Given the description of an element on the screen output the (x, y) to click on. 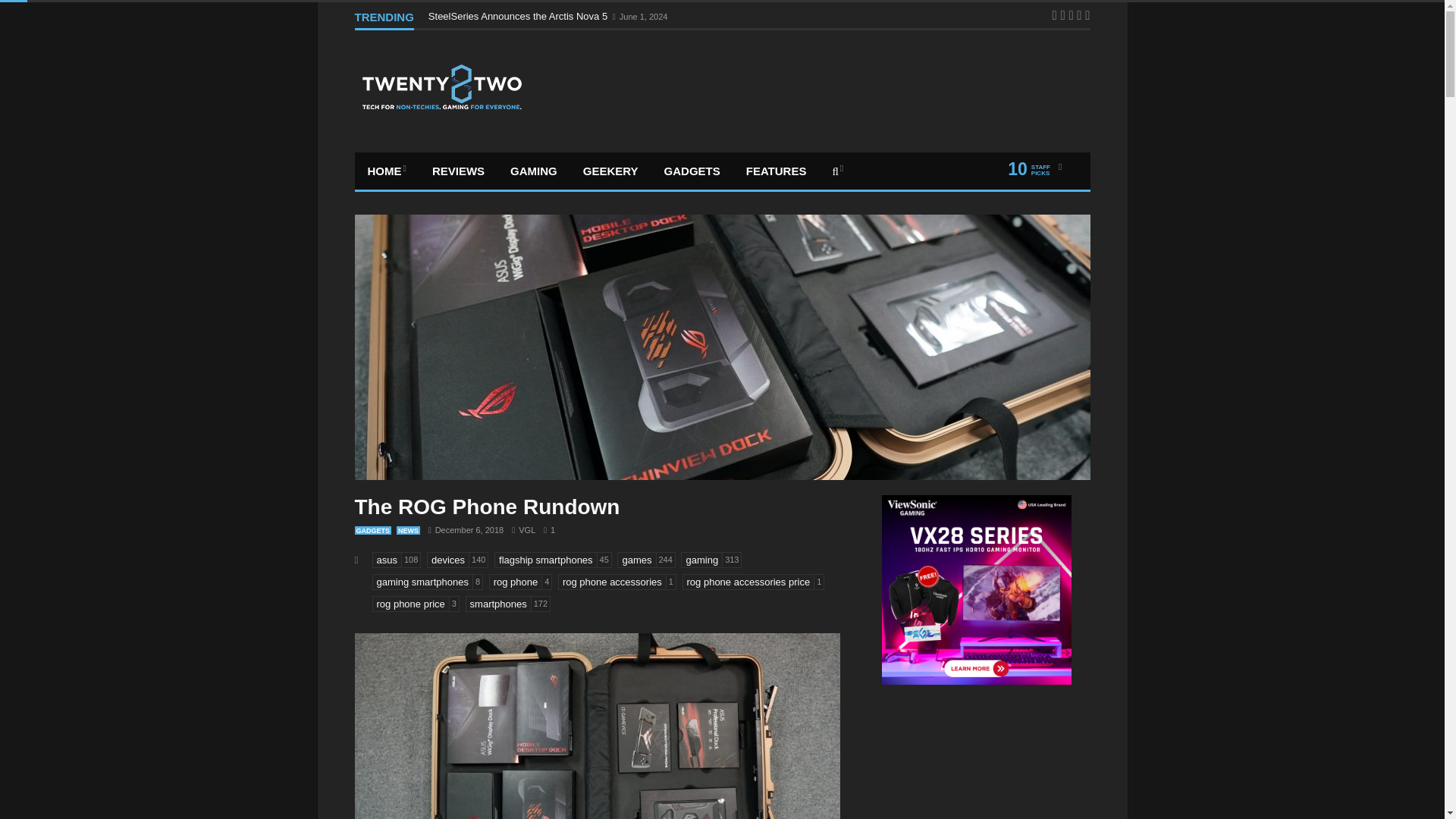
Gaming (533, 170)
SteelSeries Announces the Arctis Nova 5 (519, 16)
Reviews (458, 170)
Geekery (610, 170)
Advertisement (810, 88)
Home (387, 170)
TRENDING (384, 20)
Gadgets (691, 170)
